Given the description of an element on the screen output the (x, y) to click on. 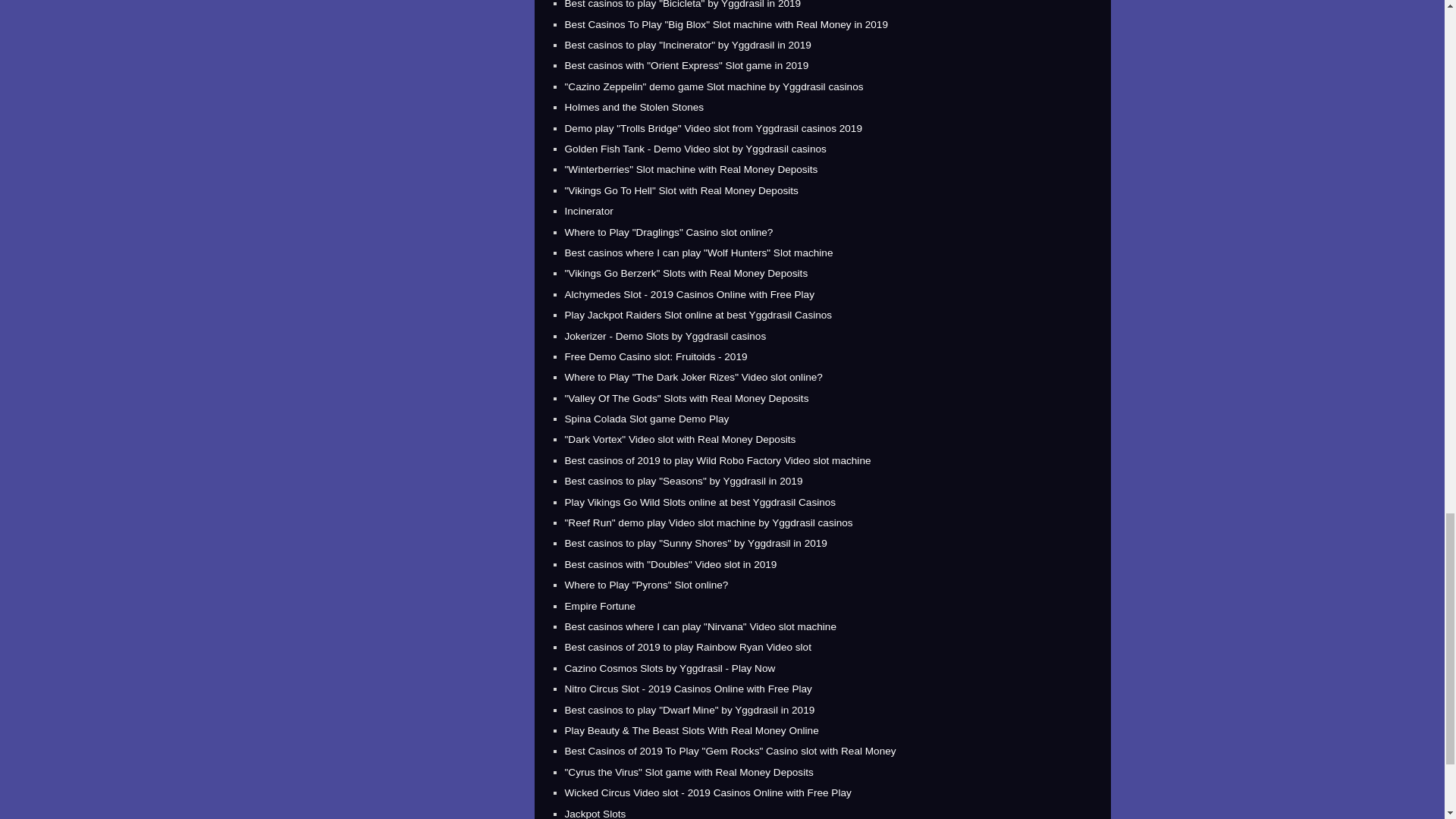
Best casinos where I can play "Wolf Hunters" Slot machine (698, 252)
Best casinos to play "Bicicleta" by Yggdrasil in 2019 (682, 4)
Alchymedes Slot - 2019 Casinos Online with Free Play (688, 294)
Best casinos with "Orient Express" Slot game in 2019 (686, 65)
Golden Fish Tank - Demo Video slot by Yggdrasil casinos (694, 148)
"Vikings Go Berzerk" Slots with Real Money Deposits (686, 273)
"Winterberries" Slot machine with Real Money Deposits (690, 169)
Incinerator (588, 211)
Holmes and the Stolen Stones (633, 107)
Where to Play "Draglings" Casino slot online? (668, 232)
"Vikings Go To Hell" Slot with Real Money Deposits (680, 190)
Best casinos to play "Incinerator" by Yggdrasil in 2019 (687, 44)
